Given the description of an element on the screen output the (x, y) to click on. 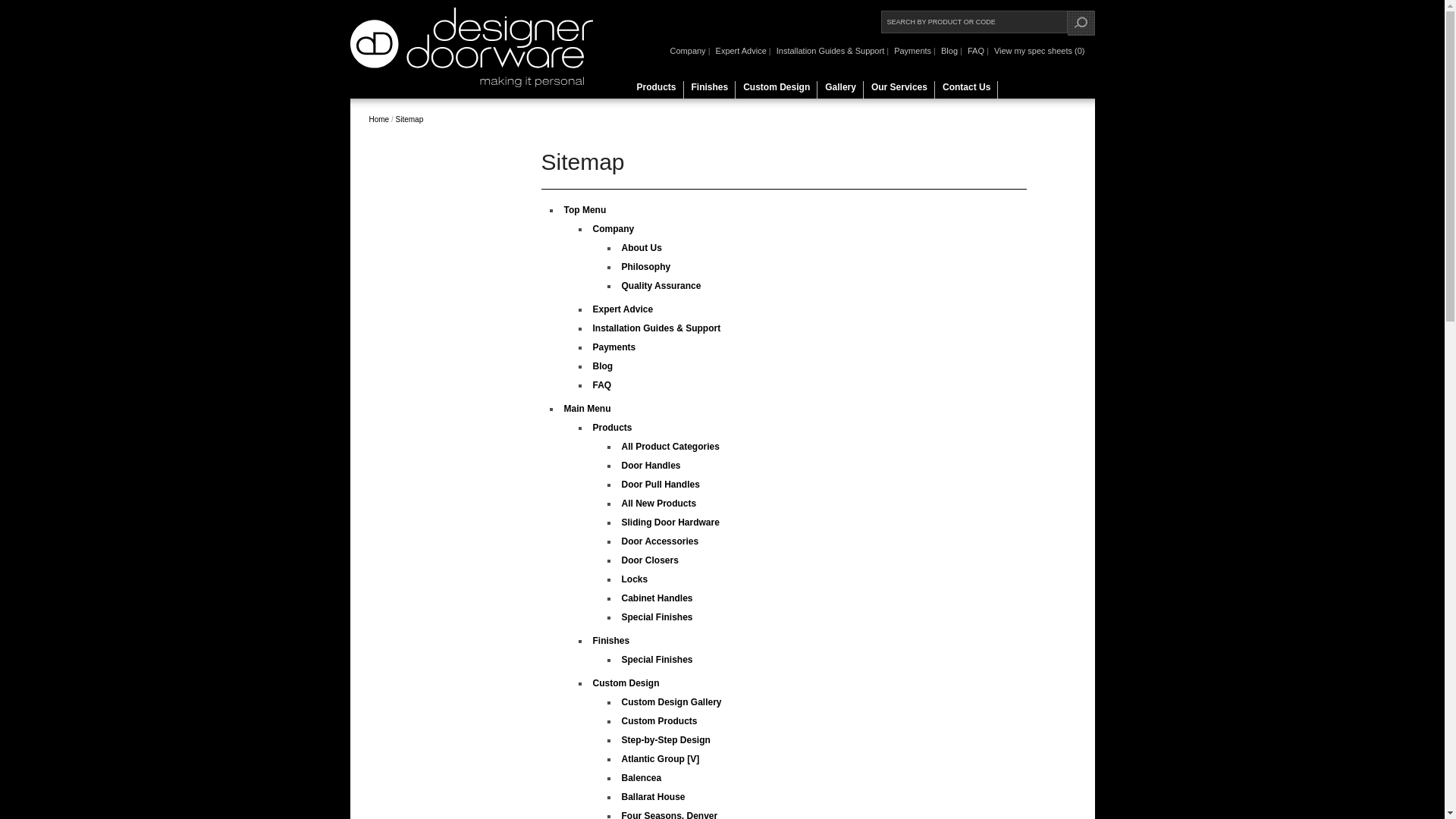
Top Menu Element type: text (585, 209)
Gallery Element type: text (840, 90)
Finishes Element type: text (710, 90)
Installation Guides & Support Element type: text (829, 50)
Blog Element type: text (603, 365)
FAQ Element type: text (602, 384)
Custom Design Gallery Element type: text (671, 701)
Custom Design Element type: text (626, 682)
Installation Guides & Support Element type: text (657, 328)
Company Element type: text (687, 50)
Blog Element type: text (949, 50)
Locks Element type: text (634, 579)
About Us Element type: text (641, 247)
Finishes Element type: text (611, 640)
Balencea Element type: text (641, 777)
Home Element type: text (378, 119)
//www.designerdoorware.com.au Element type: hover (471, 83)
Door Handles Element type: text (650, 465)
Products Element type: text (656, 90)
Sitemap Element type: text (409, 119)
Atlantic Group [V] Element type: text (660, 758)
FAQ Element type: text (975, 50)
Sliding Door Hardware Element type: text (670, 522)
Custom Products Element type: text (659, 720)
Products Element type: text (612, 427)
Our Services Element type: text (899, 90)
Expert Advice Element type: text (623, 309)
Contact Us Element type: text (966, 90)
Ballarat House Element type: text (653, 796)
Payments Element type: text (912, 50)
Quality Assurance Element type: text (661, 285)
Special Finishes Element type: text (657, 616)
Door Closers Element type: text (649, 560)
Company Element type: text (613, 228)
Payments Element type: text (614, 347)
Main Menu Element type: text (587, 408)
Custom Design Element type: text (776, 90)
View my spec sheets (0) Element type: text (1039, 50)
All Product Categories Element type: text (670, 446)
Step-by-Step Design Element type: text (665, 739)
Door Accessories Element type: text (660, 541)
Philosophy Element type: text (646, 266)
Special Finishes Element type: text (657, 659)
Expert Advice Element type: text (740, 50)
Door Pull Handles Element type: text (660, 484)
All New Products Element type: text (658, 503)
Cabinet Handles Element type: text (657, 598)
